Given the description of an element on the screen output the (x, y) to click on. 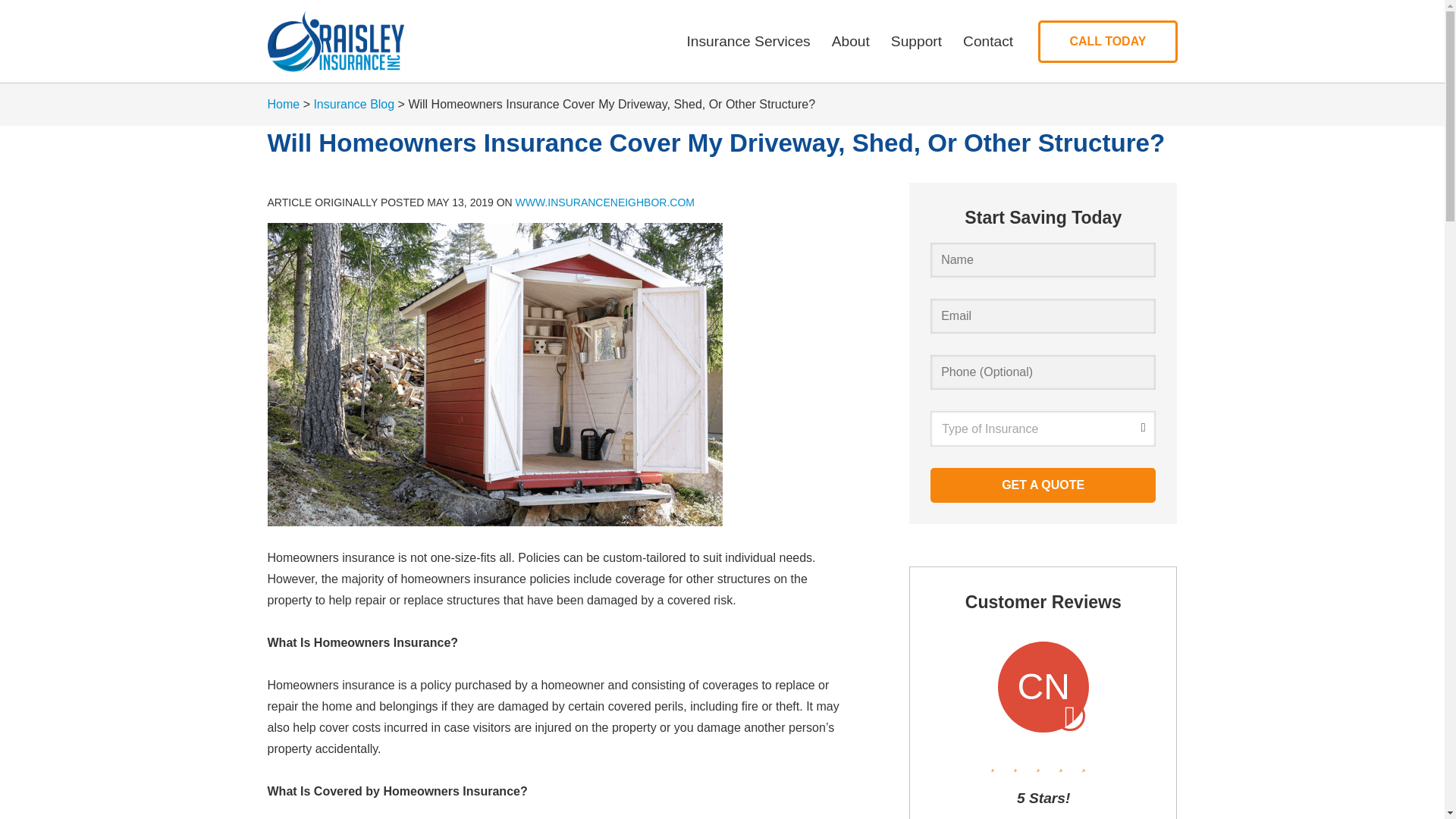
Insurance Services (749, 41)
About (850, 41)
Get A Quote (1043, 484)
